Given the description of an element on the screen output the (x, y) to click on. 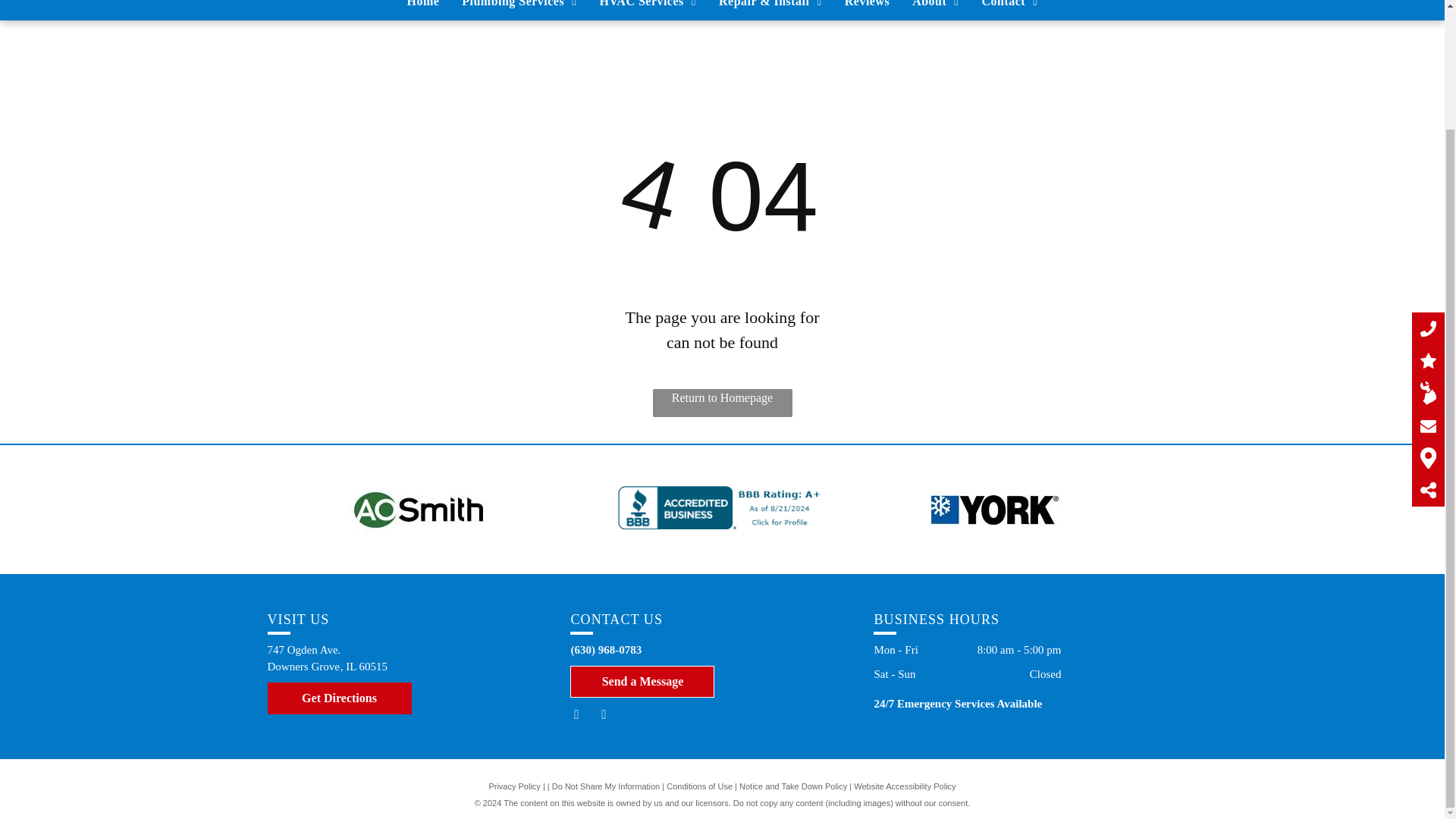
Return to Homepage (722, 402)
HVAC Services (647, 7)
Reviews (866, 7)
Home (423, 7)
Get Directions (338, 698)
About (935, 7)
Contact (1010, 7)
Plumbing Services (518, 7)
